Given the description of an element on the screen output the (x, y) to click on. 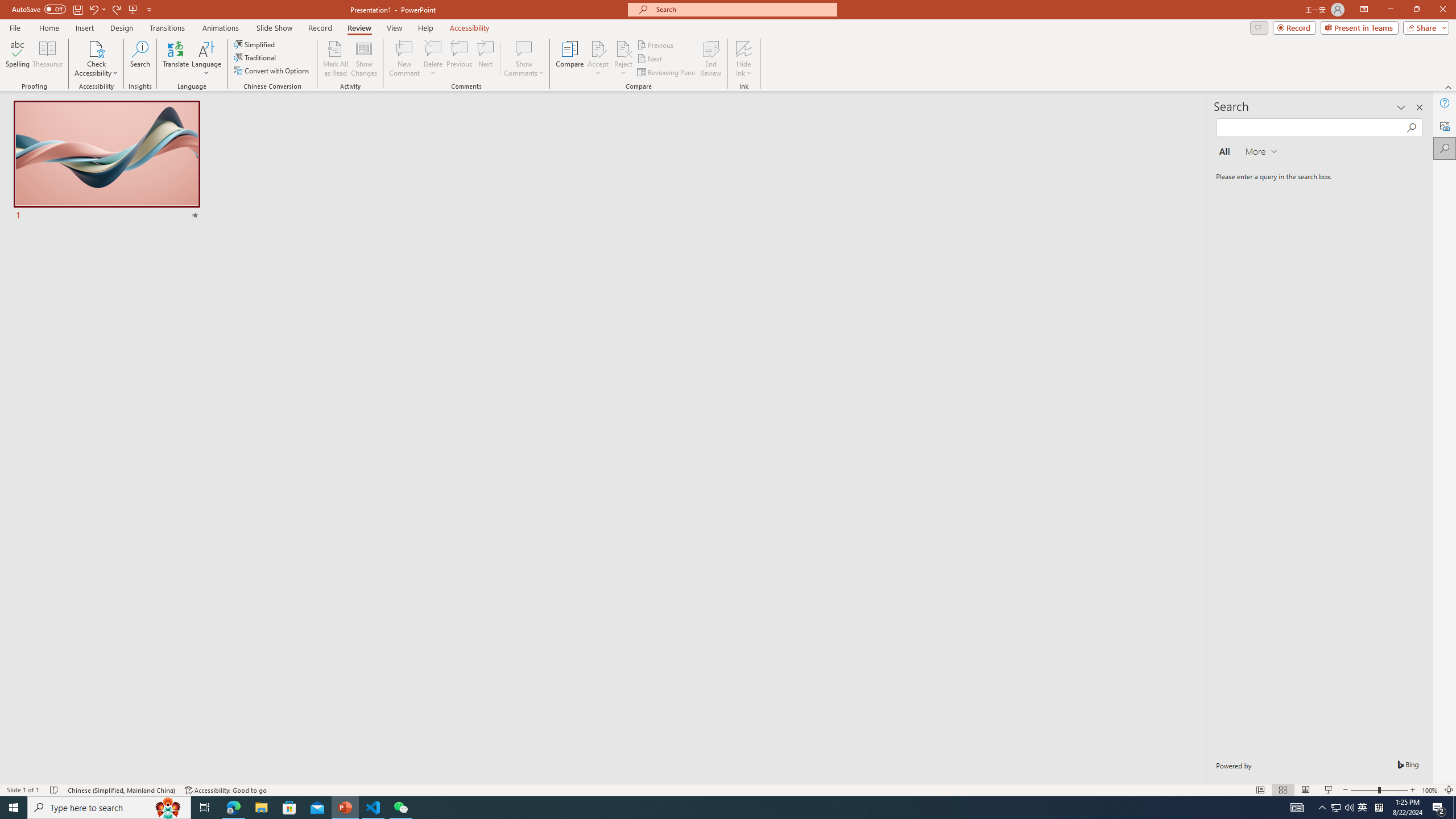
Delete (432, 48)
Language (206, 58)
Next (649, 58)
